Given the description of an element on the screen output the (x, y) to click on. 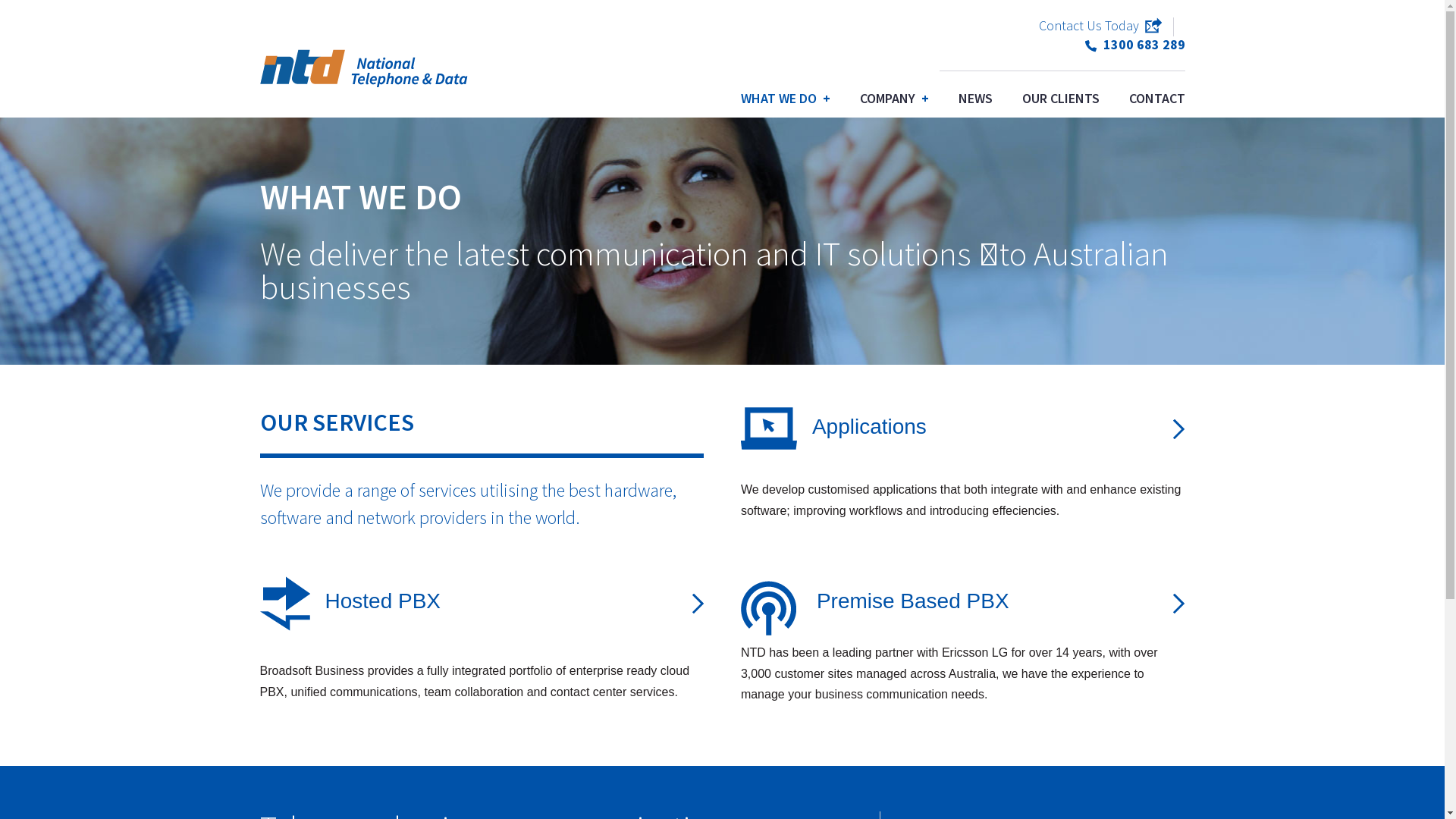
COMPANY Element type: text (893, 98)
Premise Based PBX Element type: text (912, 600)
1300 683 289 Element type: text (1134, 44)
WHAT WE DO Element type: text (785, 98)
OUR CLIENTS Element type: text (1060, 98)
CONTACT Element type: text (1156, 98)
Hosted PBX Element type: text (382, 600)
NEWS Element type: text (975, 98)
Contact Us Today Element type: text (1099, 25)
Applications Element type: text (869, 426)
